Given the description of an element on the screen output the (x, y) to click on. 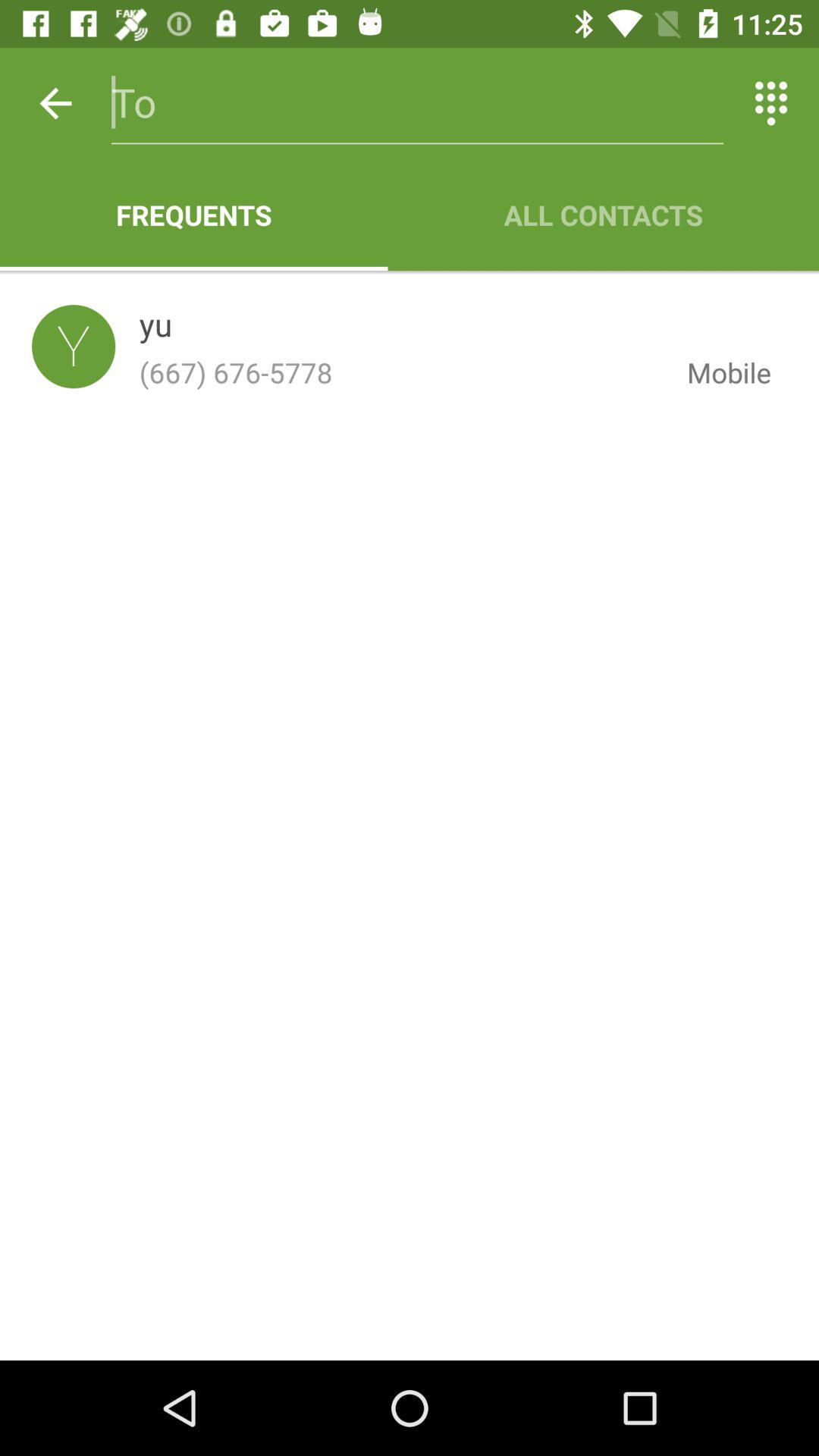
turn off the icon to the right of frequents item (603, 214)
